Given the description of an element on the screen output the (x, y) to click on. 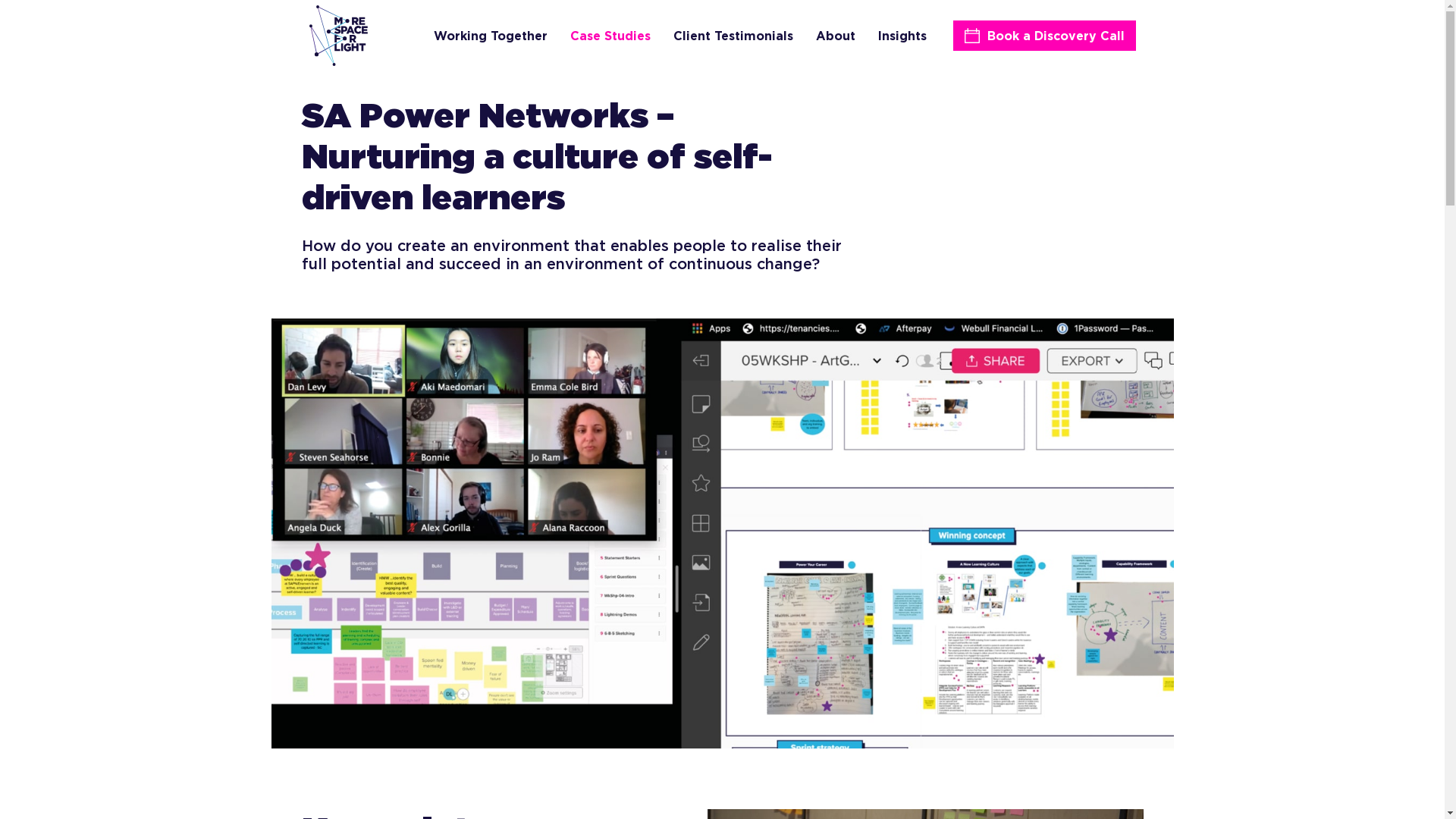
Client Testimonials Element type: text (733, 35)
About Element type: text (835, 35)
Working Together Element type: text (490, 35)
Book a Discovery Call Element type: text (1055, 35)
Insights Element type: text (902, 35)
Case Studies Element type: text (610, 35)
